Given the description of an element on the screen output the (x, y) to click on. 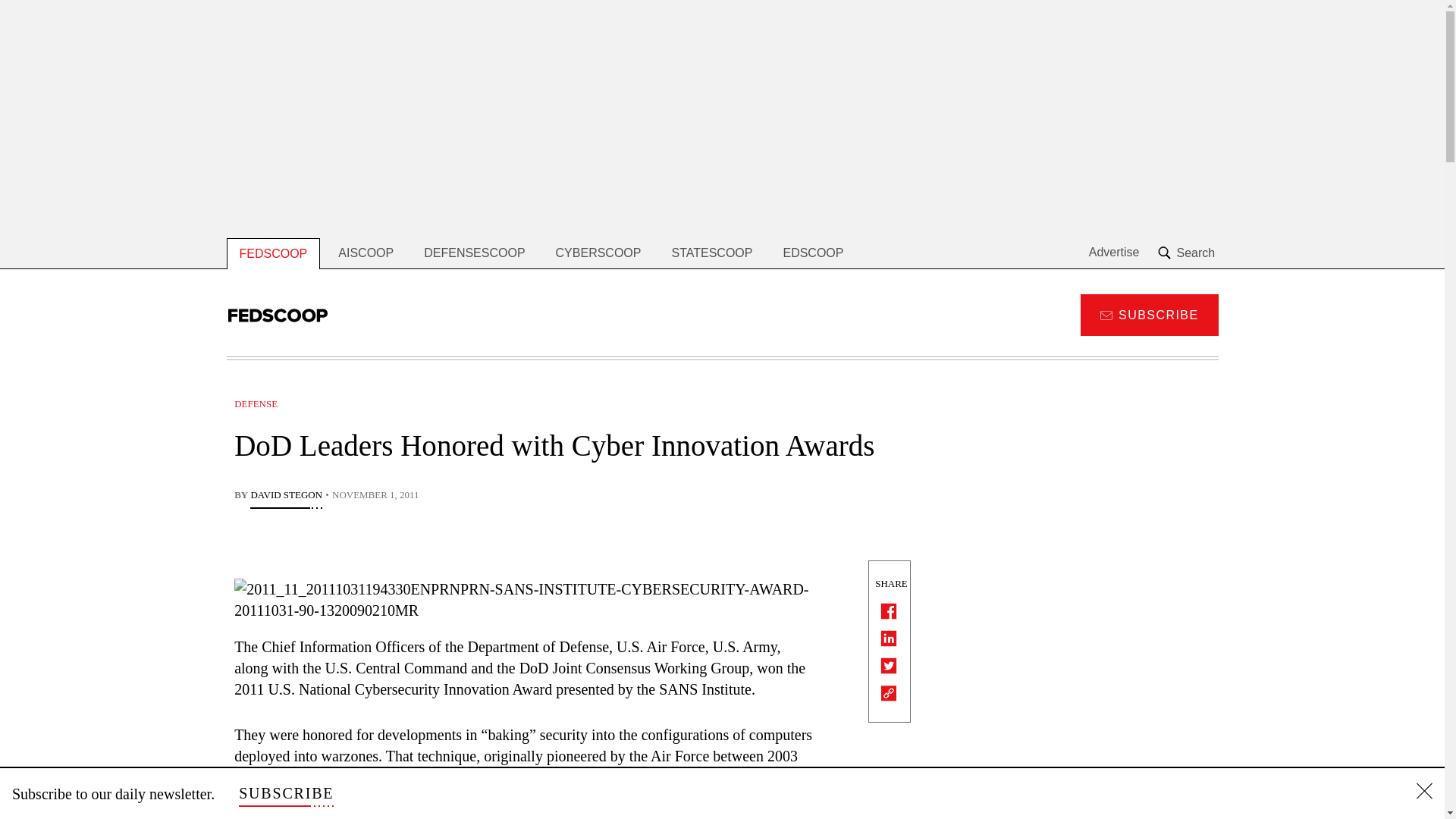
EDSCOOP (813, 253)
David Stegon (285, 496)
FEDSCOOP (272, 253)
SUBSCRIBE (285, 793)
Advertise (1114, 252)
Search (1187, 252)
CYBERSCOOP (598, 253)
DAVID STEGON (285, 496)
DEFENSE (256, 403)
SUBSCRIBE (1148, 314)
